Given the description of an element on the screen output the (x, y) to click on. 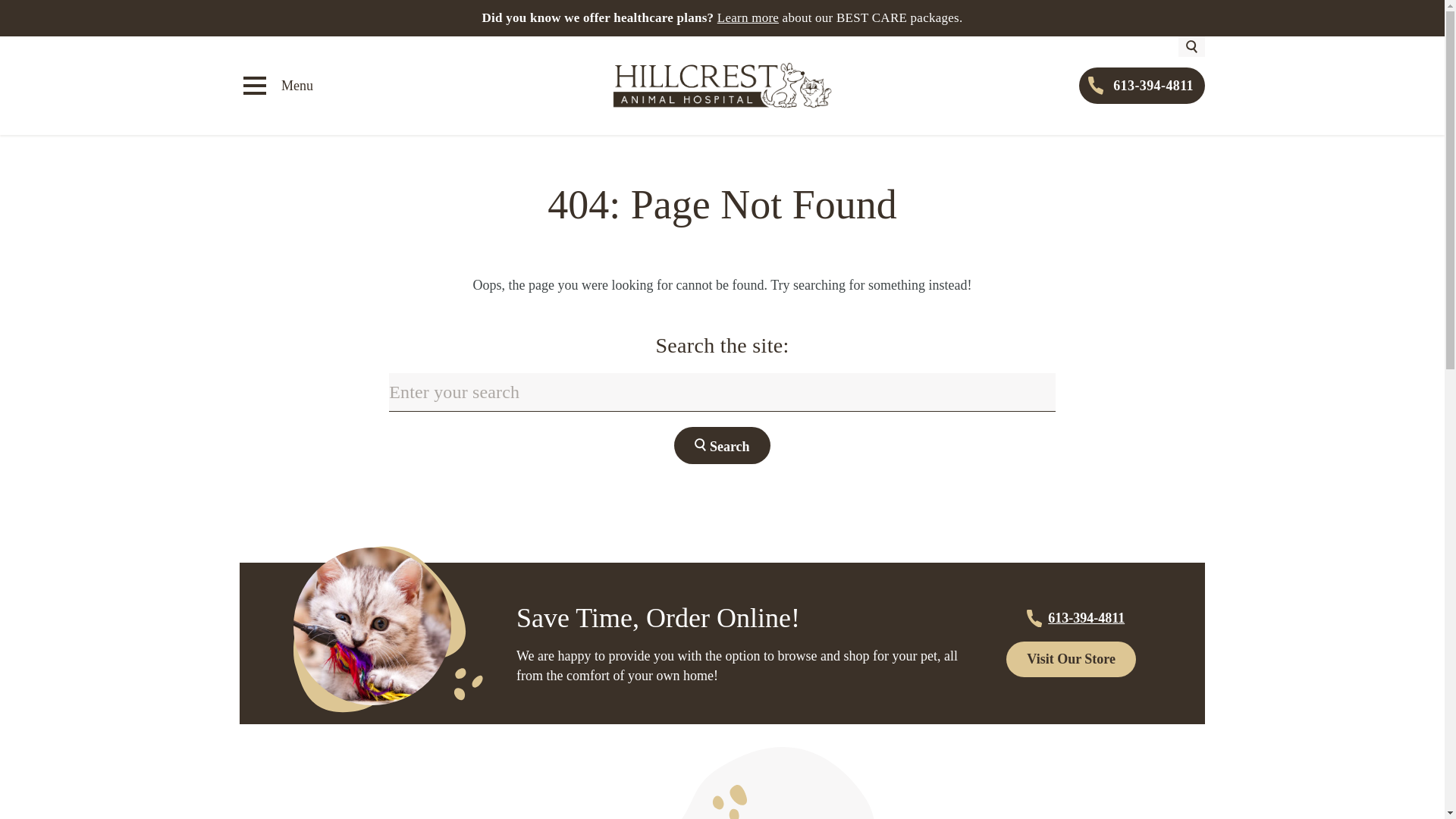
613-394-4811 (1070, 618)
Visit Our Store (1070, 659)
Search (722, 445)
613-394-4811 (1141, 85)
Learn more (747, 17)
